Given the description of an element on the screen output the (x, y) to click on. 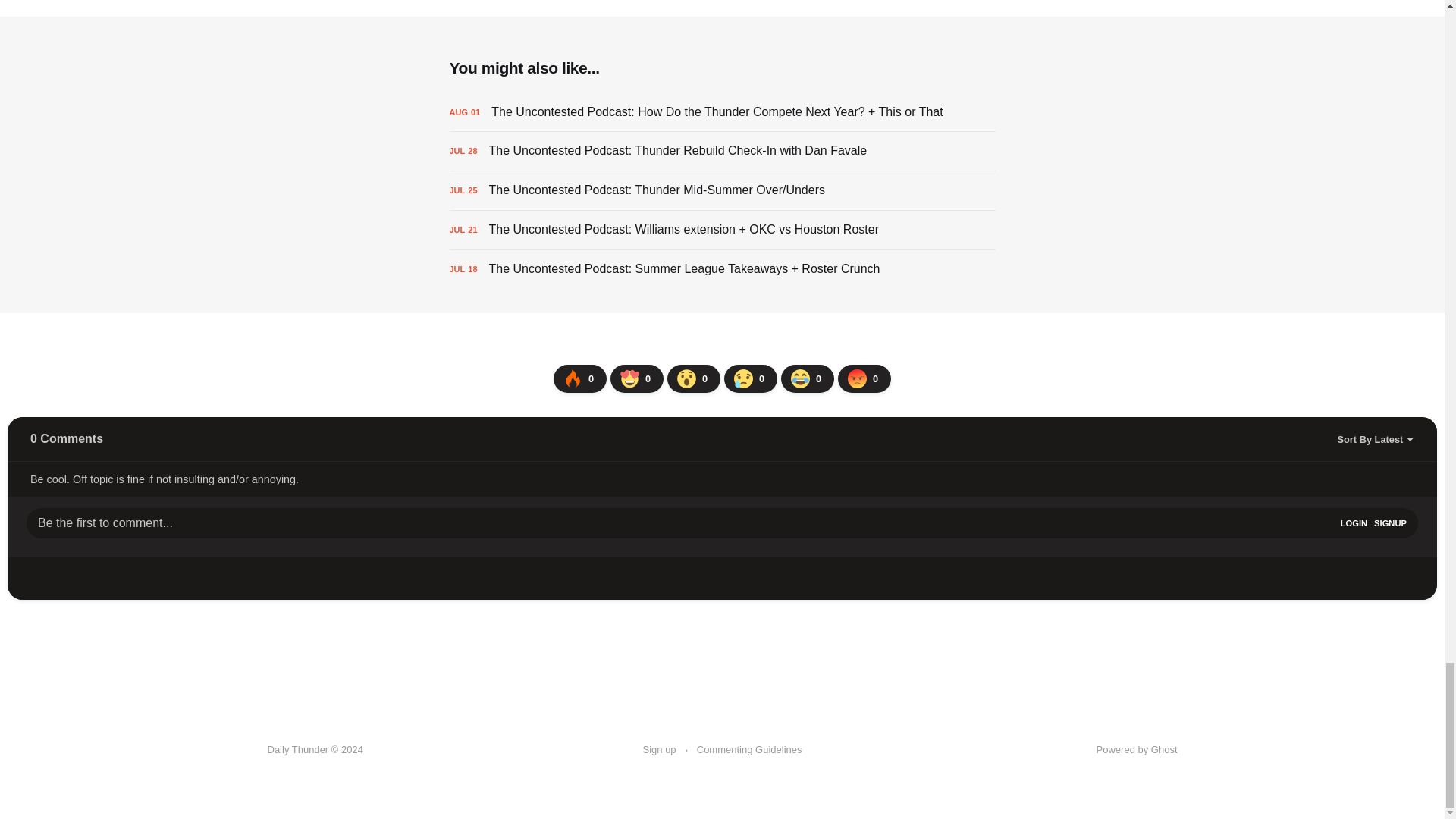
Sign up (660, 750)
Commenting Guidelines (749, 750)
Powered by Ghost (1136, 749)
